Given the description of an element on the screen output the (x, y) to click on. 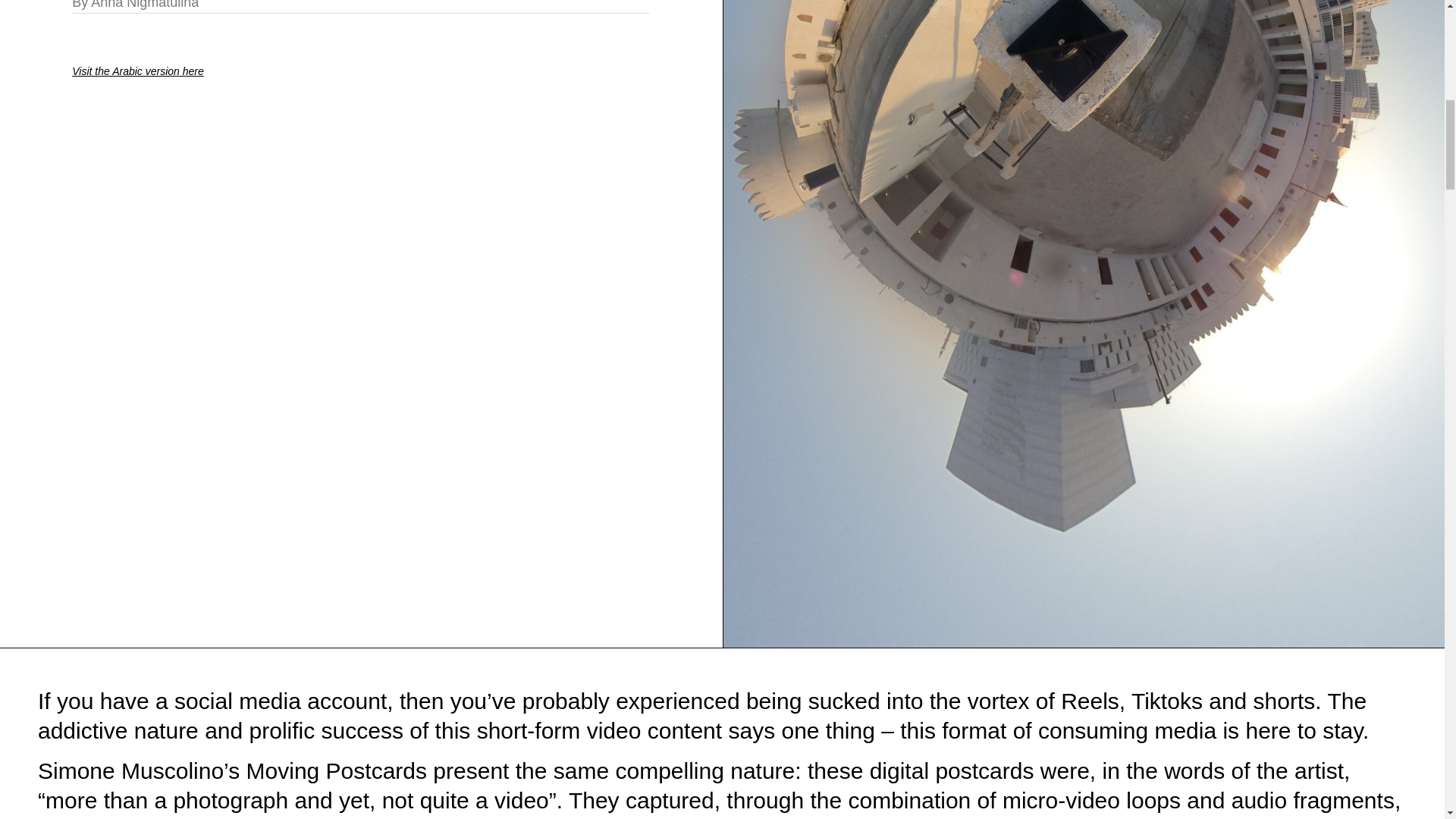
Visit the Arabic version here (137, 70)
